Given the description of an element on the screen output the (x, y) to click on. 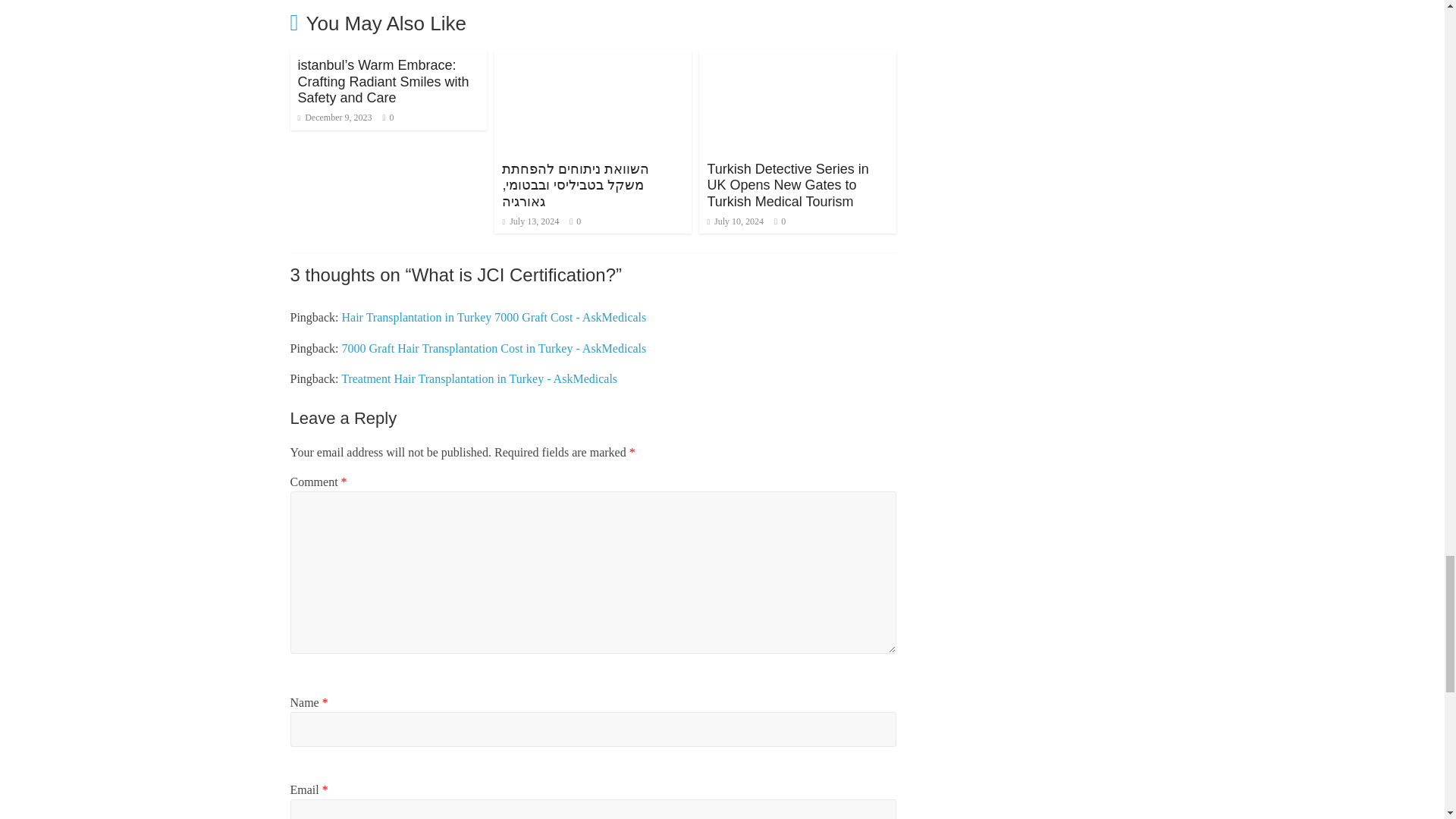
4:19 pm (530, 221)
3:42 pm (334, 117)
